Given the description of an element on the screen output the (x, y) to click on. 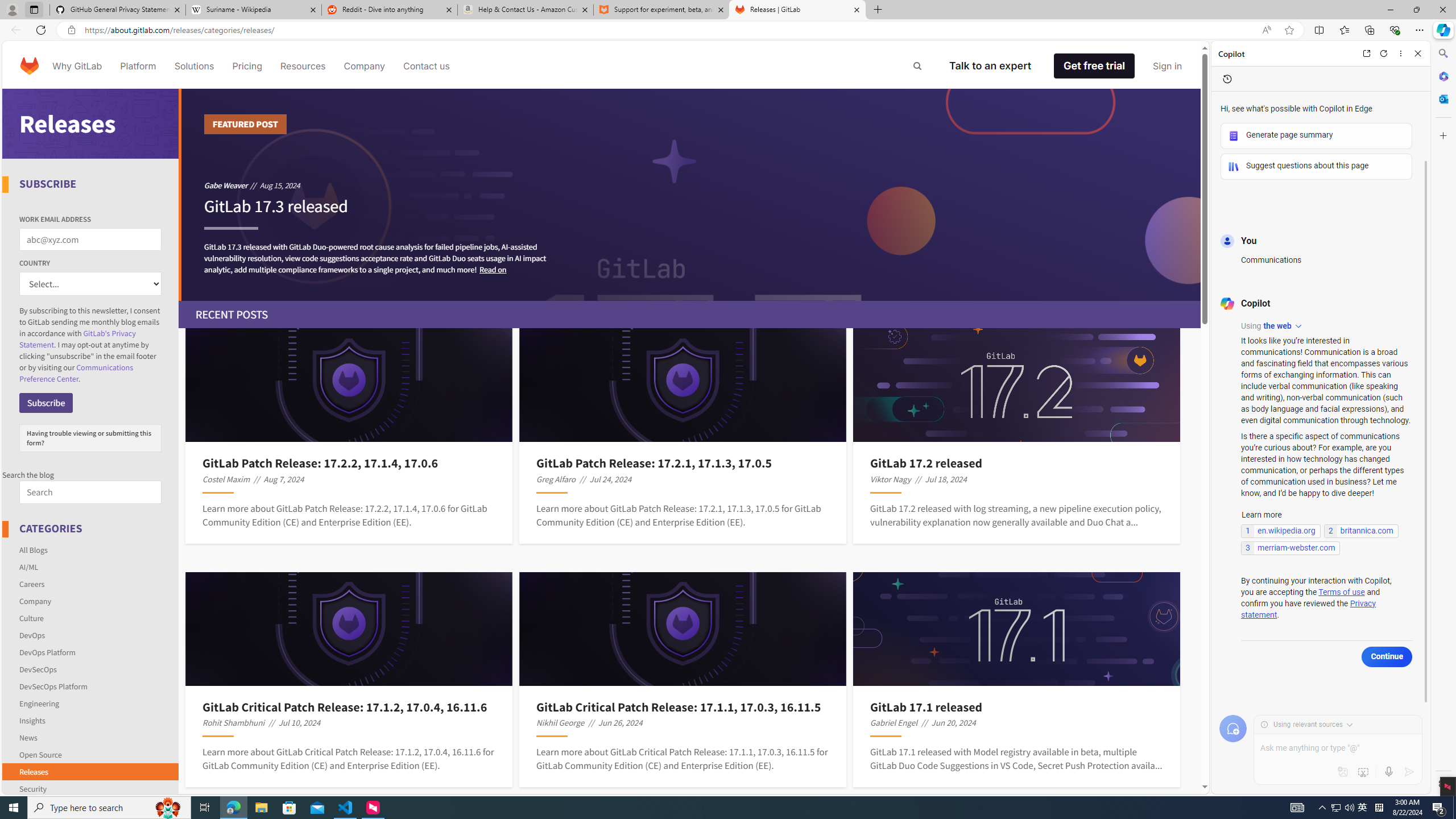
GitLab 17.3 released (275, 211)
GitLab Critical Patch Release: 17.1.2, 17.0.4, 16.11.6 (349, 706)
Culture (90, 617)
Engineering (90, 702)
Solutions (193, 65)
Careers (31, 583)
Security (32, 788)
GitLab 17.1 released (1016, 706)
DevSecOps (37, 668)
COUNTRY (89, 283)
